Given the description of an element on the screen output the (x, y) to click on. 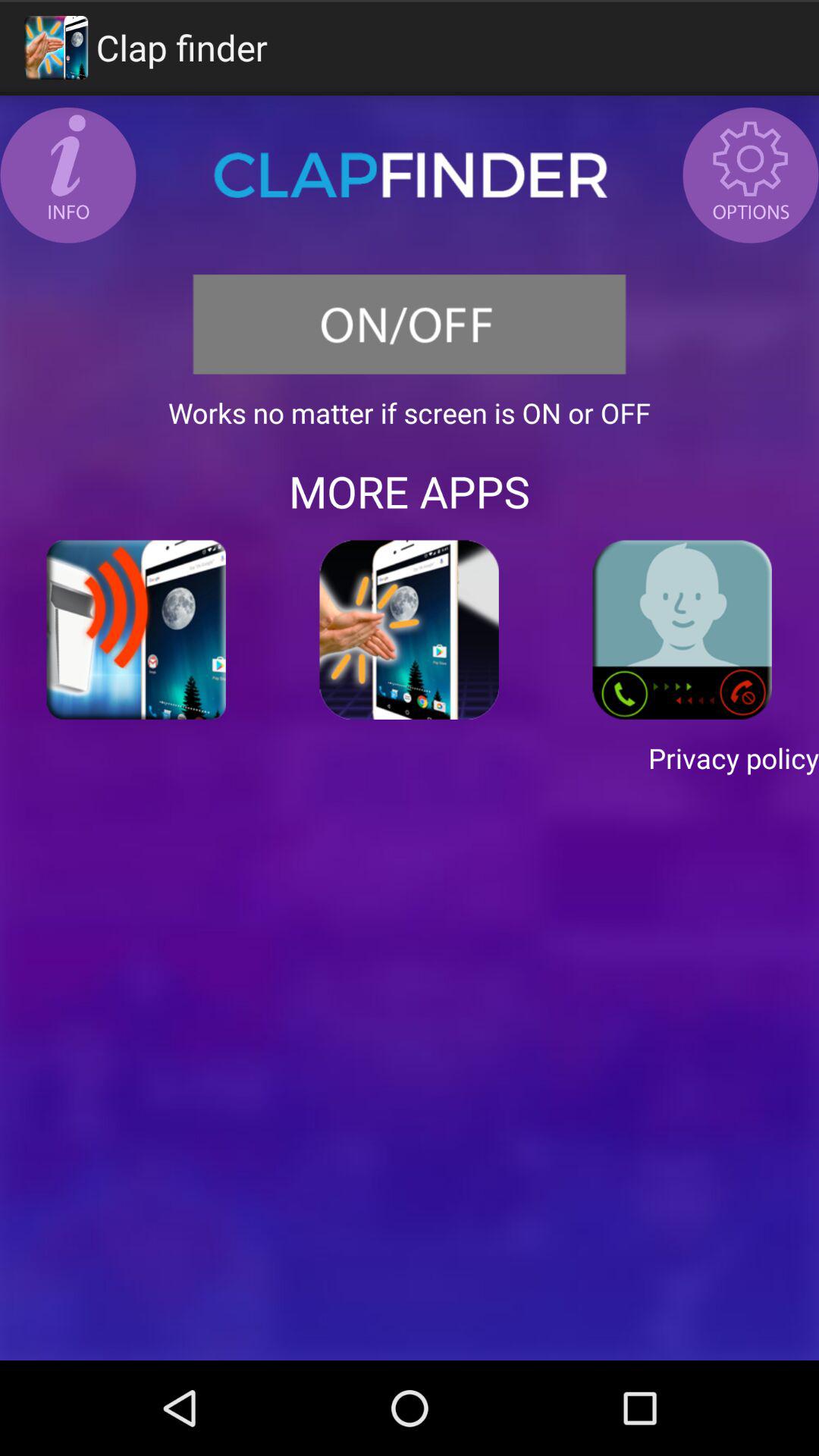
launch the item above privacy policy icon (409, 629)
